Given the description of an element on the screen output the (x, y) to click on. 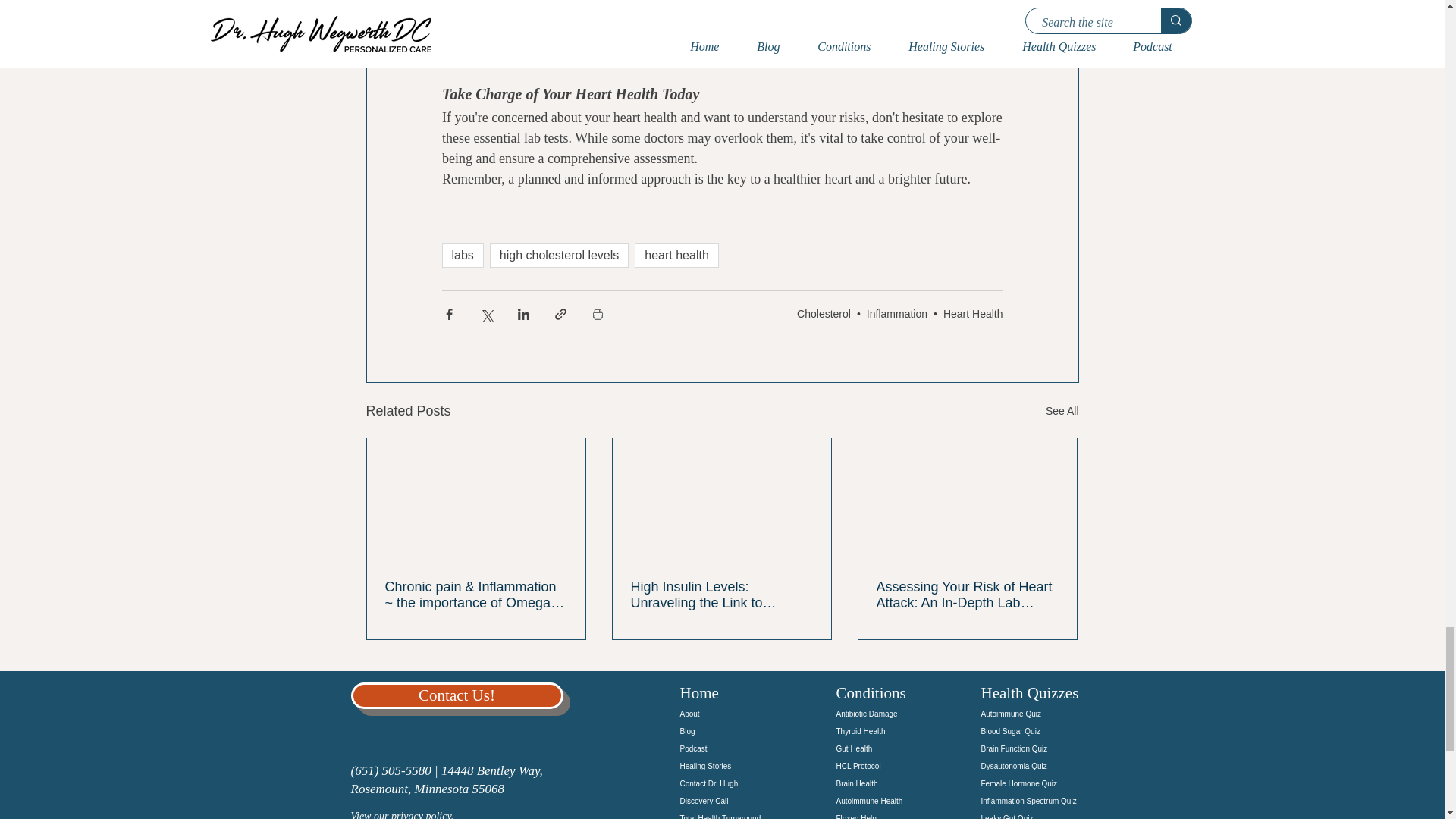
heart health (676, 255)
labs (462, 255)
high cholesterol levels (558, 255)
